Given the description of an element on the screen output the (x, y) to click on. 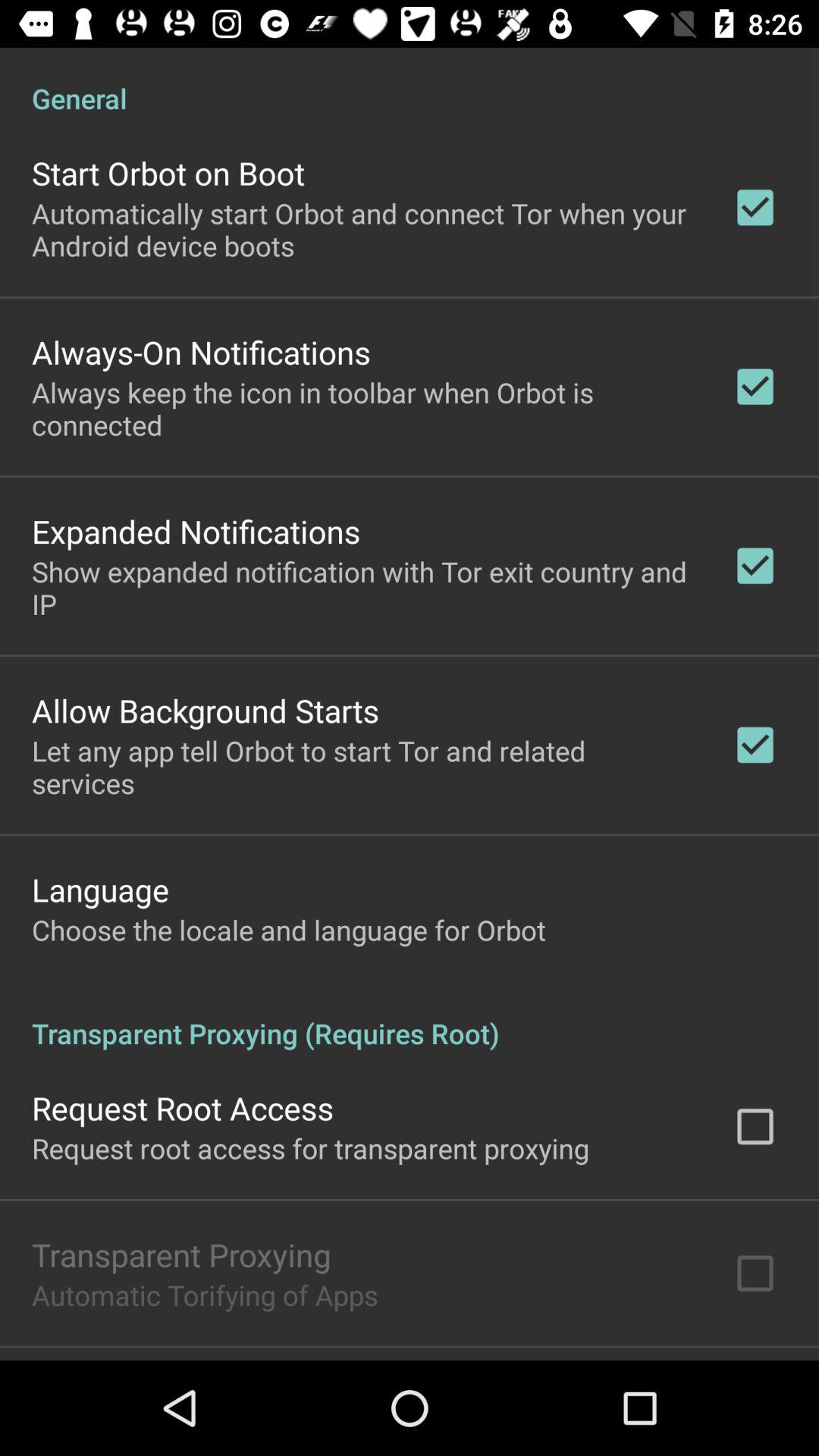
turn on automatic torifying of item (204, 1294)
